Given the description of an element on the screen output the (x, y) to click on. 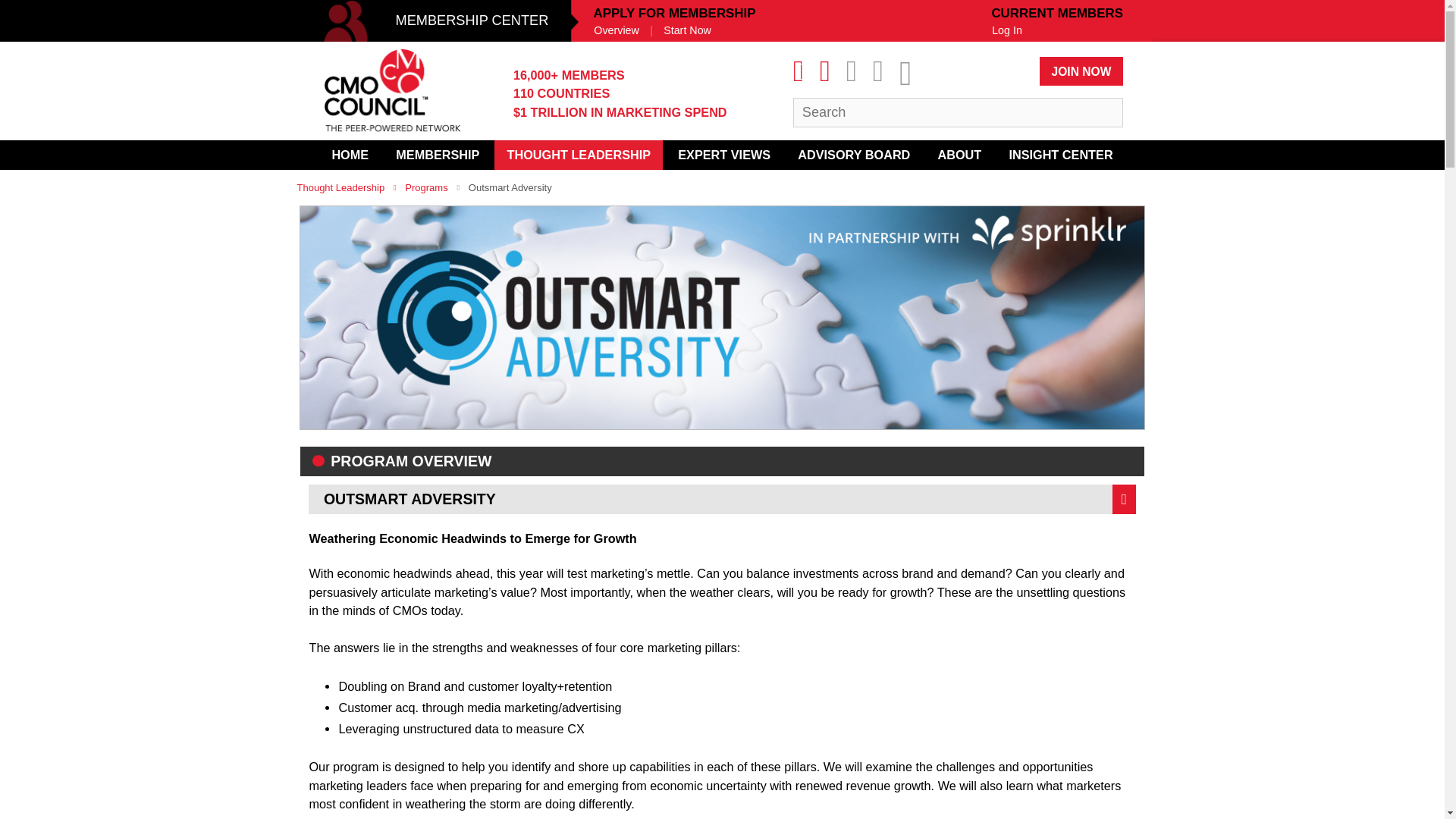
Overview (616, 30)
MEMBERSHIP CENTER (437, 20)
JOIN NOW (1080, 70)
MEMBERSHIP (438, 154)
Log In (1007, 30)
THOUGHT LEADERSHIP (578, 154)
HOME (349, 154)
Start Now (687, 30)
